Given the description of an element on the screen output the (x, y) to click on. 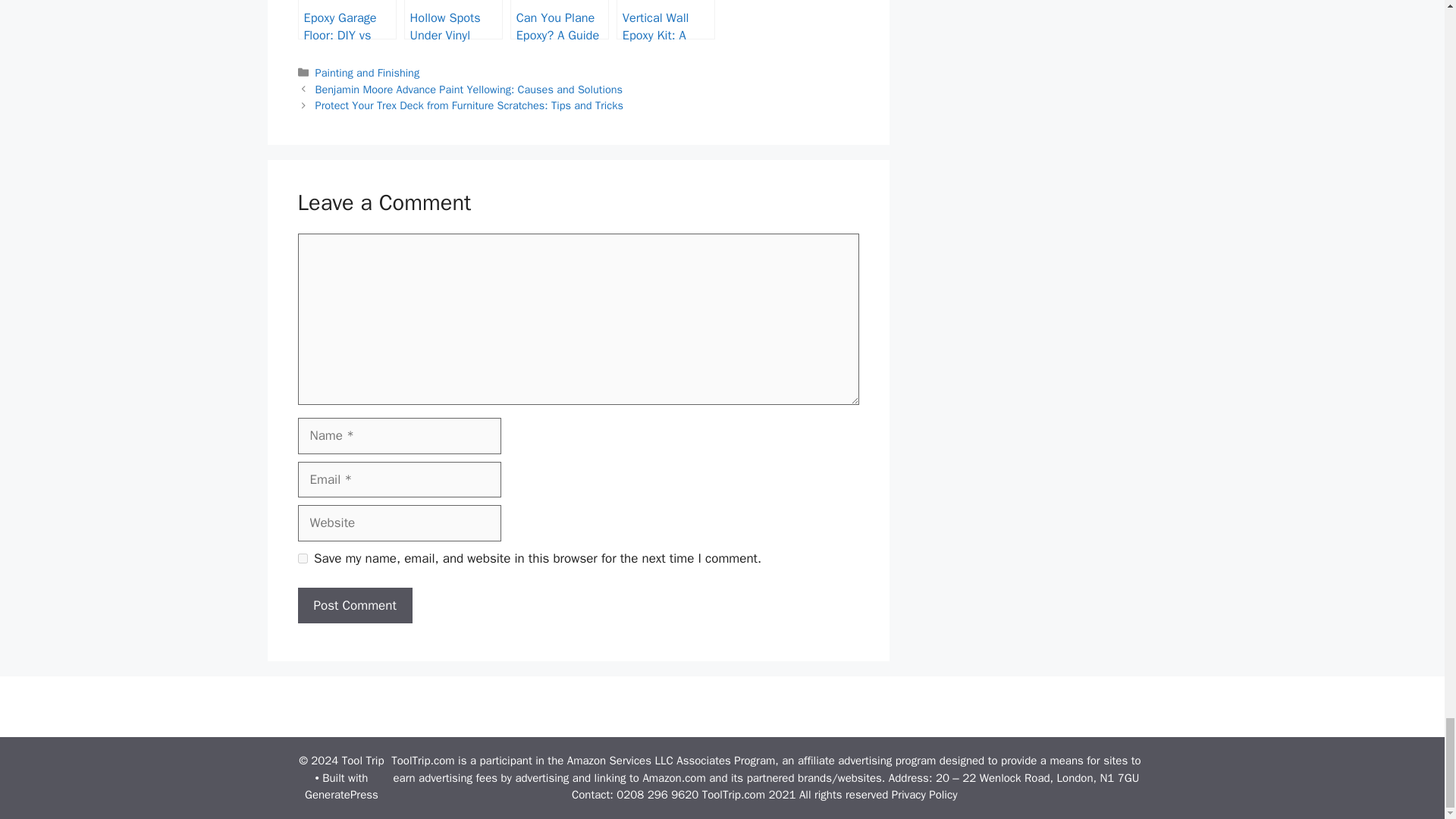
Post Comment (354, 606)
yes (302, 558)
